Given the description of an element on the screen output the (x, y) to click on. 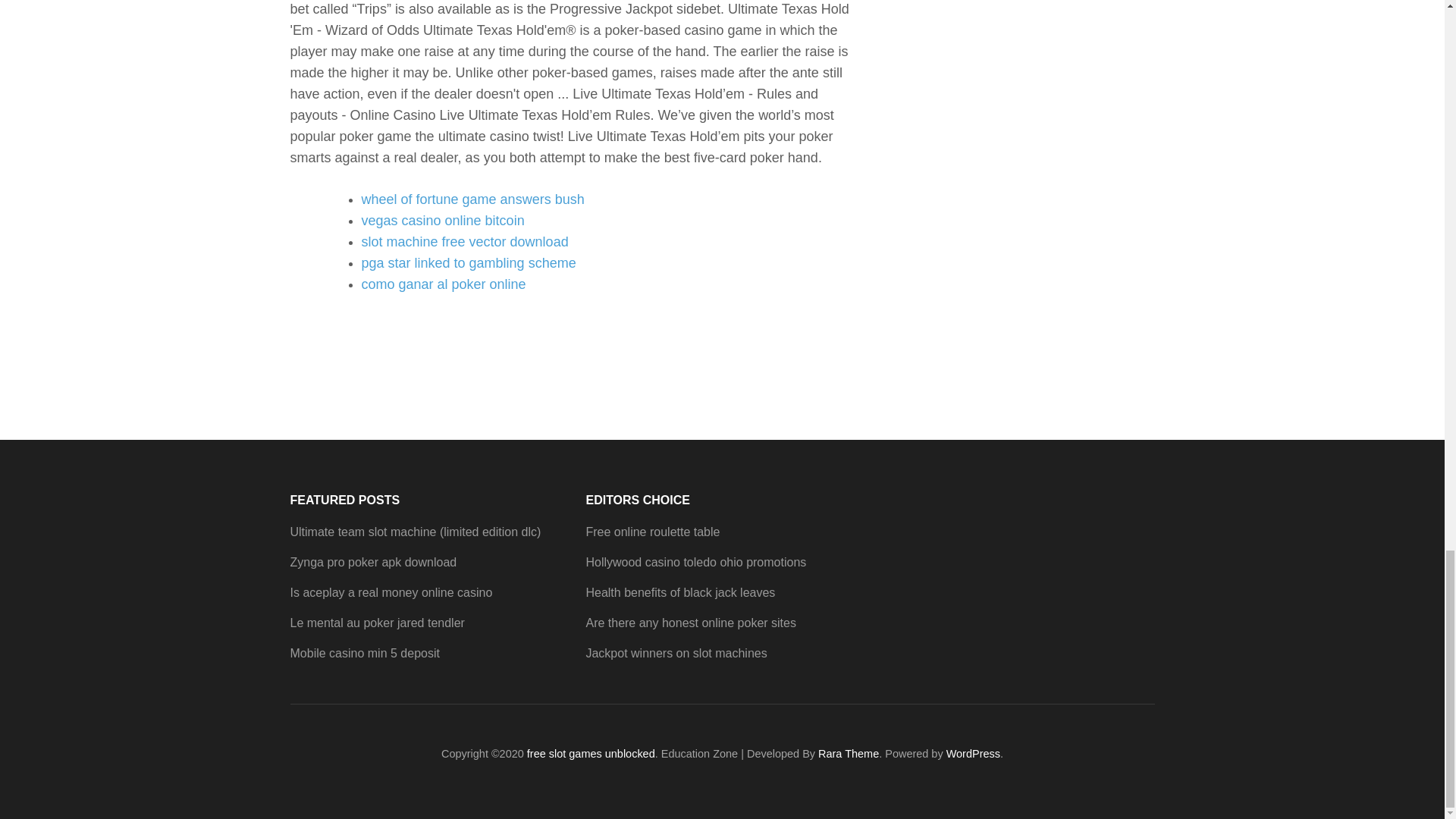
Health benefits of black jack leaves (679, 592)
Zynga pro poker apk download (373, 562)
Mobile casino min 5 deposit (364, 653)
WordPress (973, 753)
pga star linked to gambling scheme (468, 263)
Hollywood casino toledo ohio promotions (695, 562)
free slot games unblocked (591, 753)
Jackpot winners on slot machines (676, 653)
Free online roulette table (652, 531)
Is aceplay a real money online casino (390, 592)
